Given the description of an element on the screen output the (x, y) to click on. 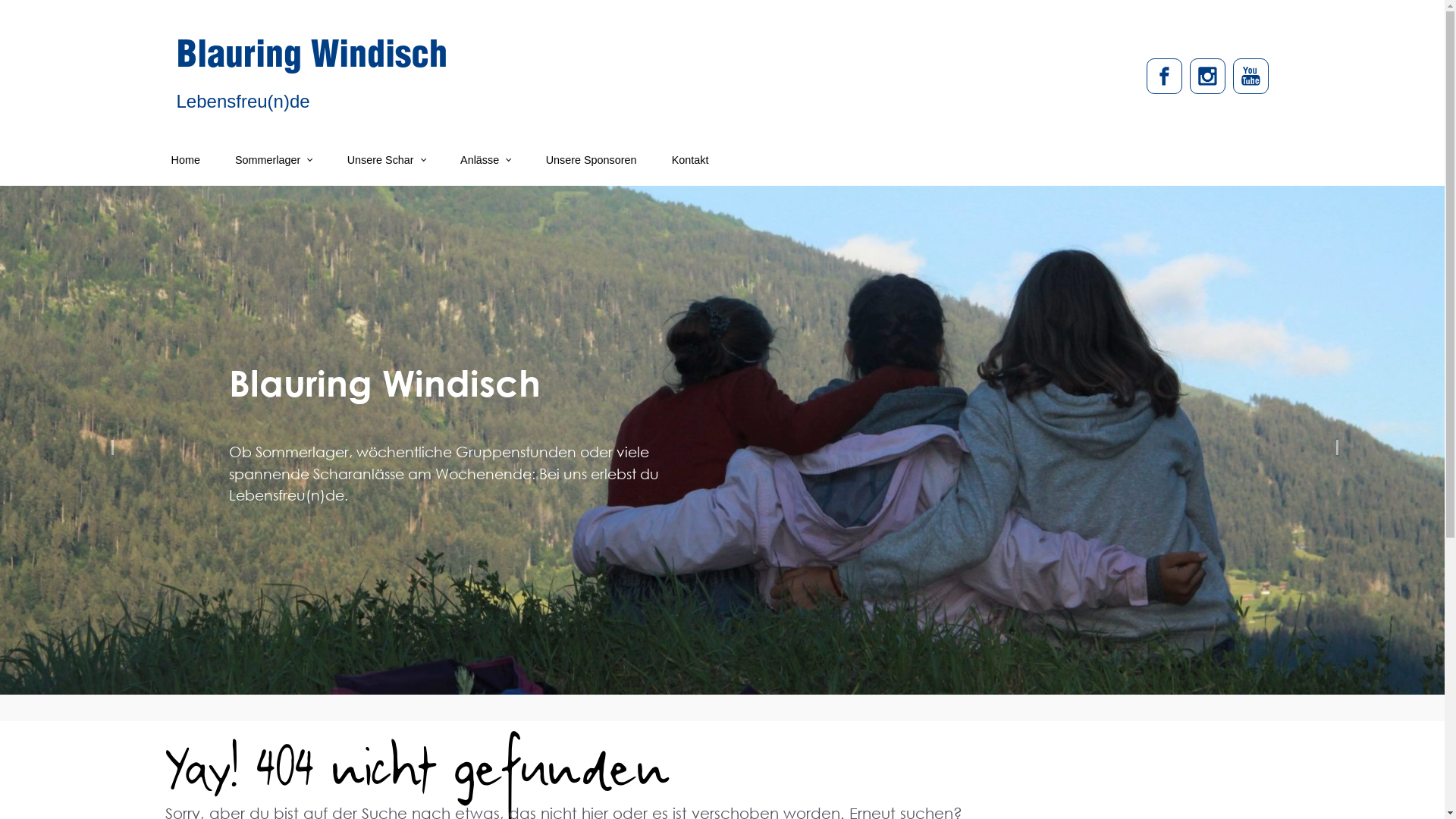
Vorheriger Element type: text (108, 439)
Unsere Sponsoren Element type: text (591, 159)
Sommerlager Element type: text (273, 159)
Kontakt Element type: text (690, 159)
Home Element type: text (185, 159)
Unsere Schar Element type: text (386, 159)
Blauring Windisch Element type: text (310, 58)
